Given the description of an element on the screen output the (x, y) to click on. 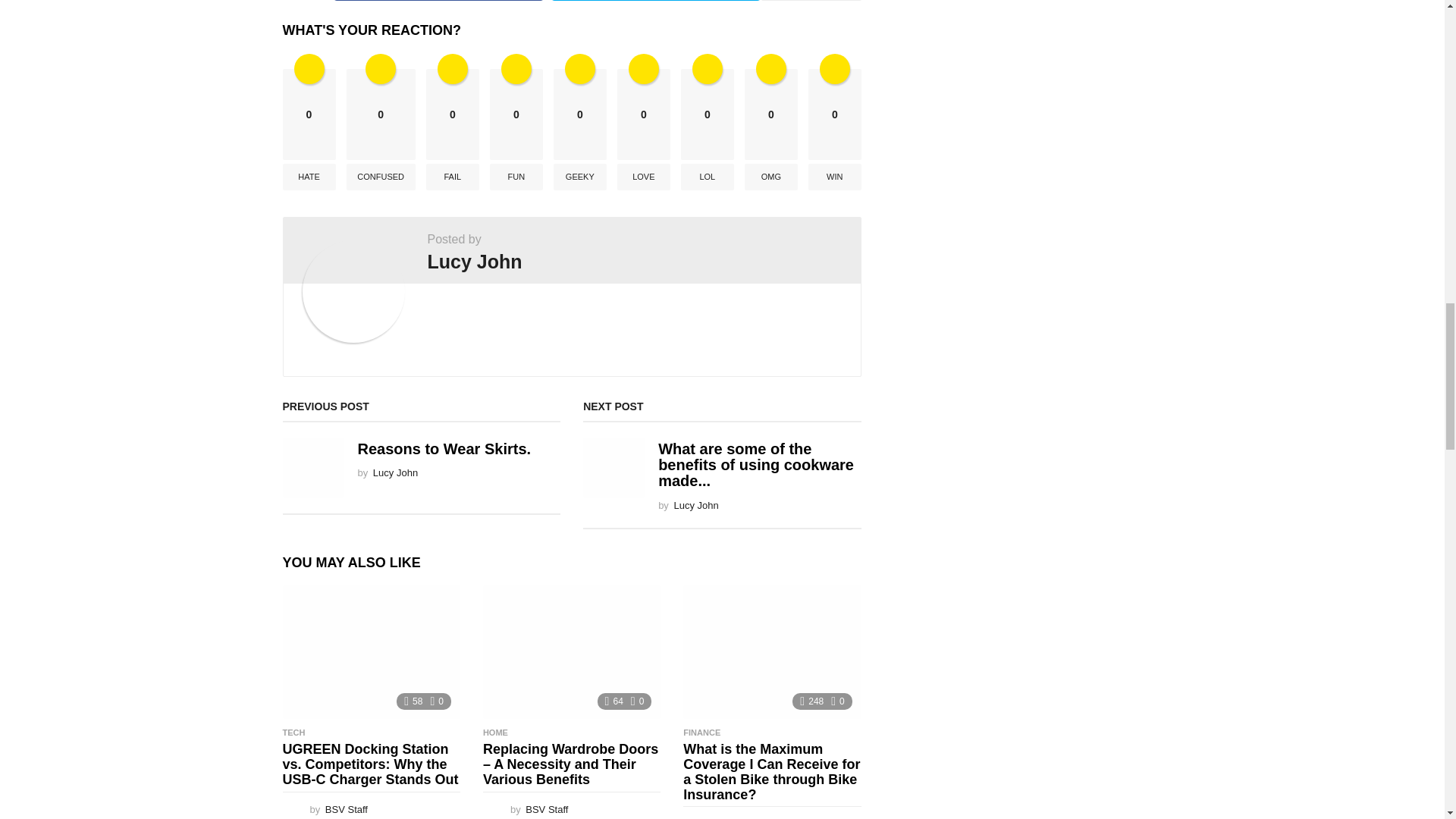
CONFUSED (380, 176)
HATE (308, 176)
